Given the description of an element on the screen output the (x, y) to click on. 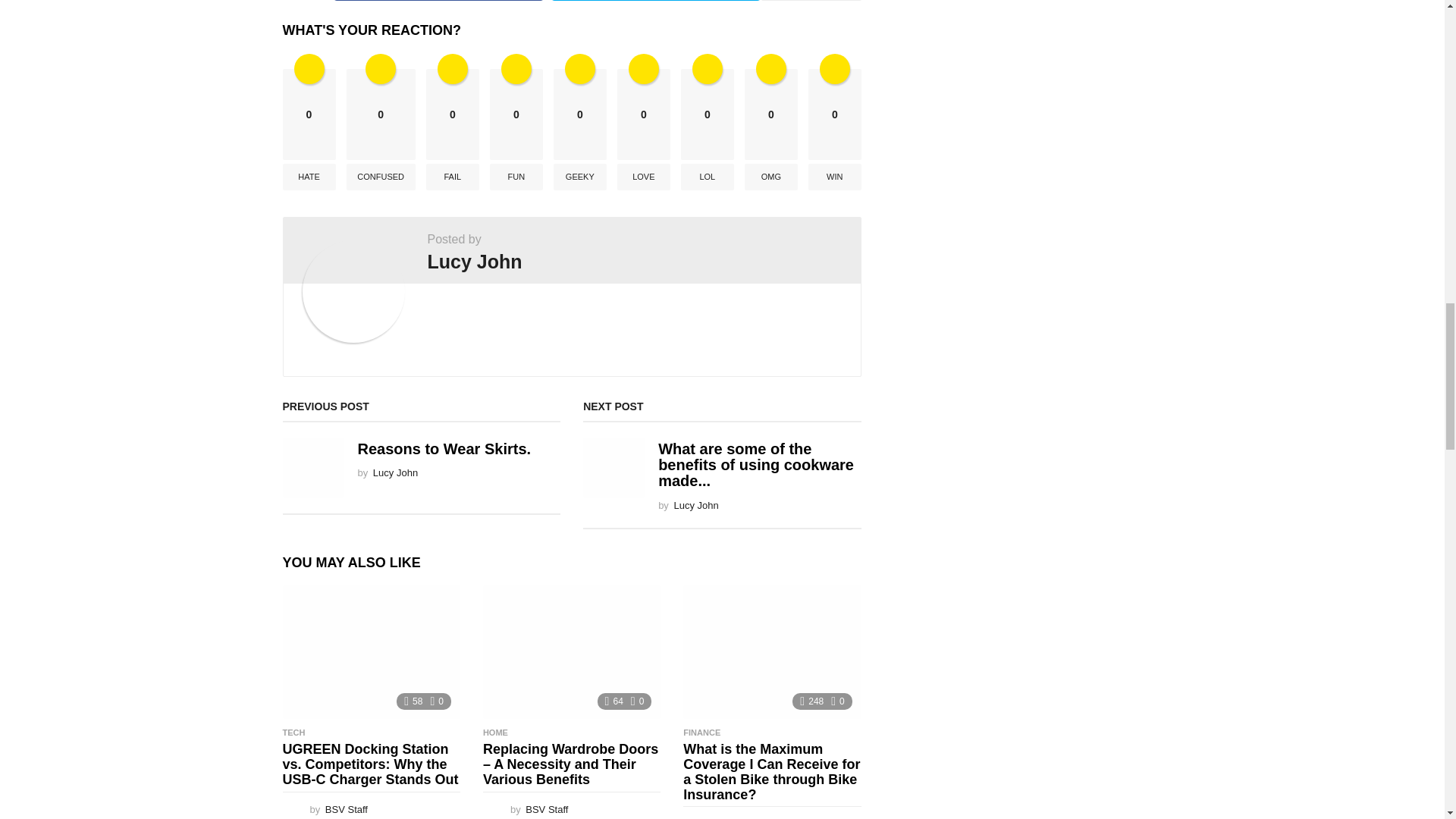
CONFUSED (380, 176)
HATE (308, 176)
